Given the description of an element on the screen output the (x, y) to click on. 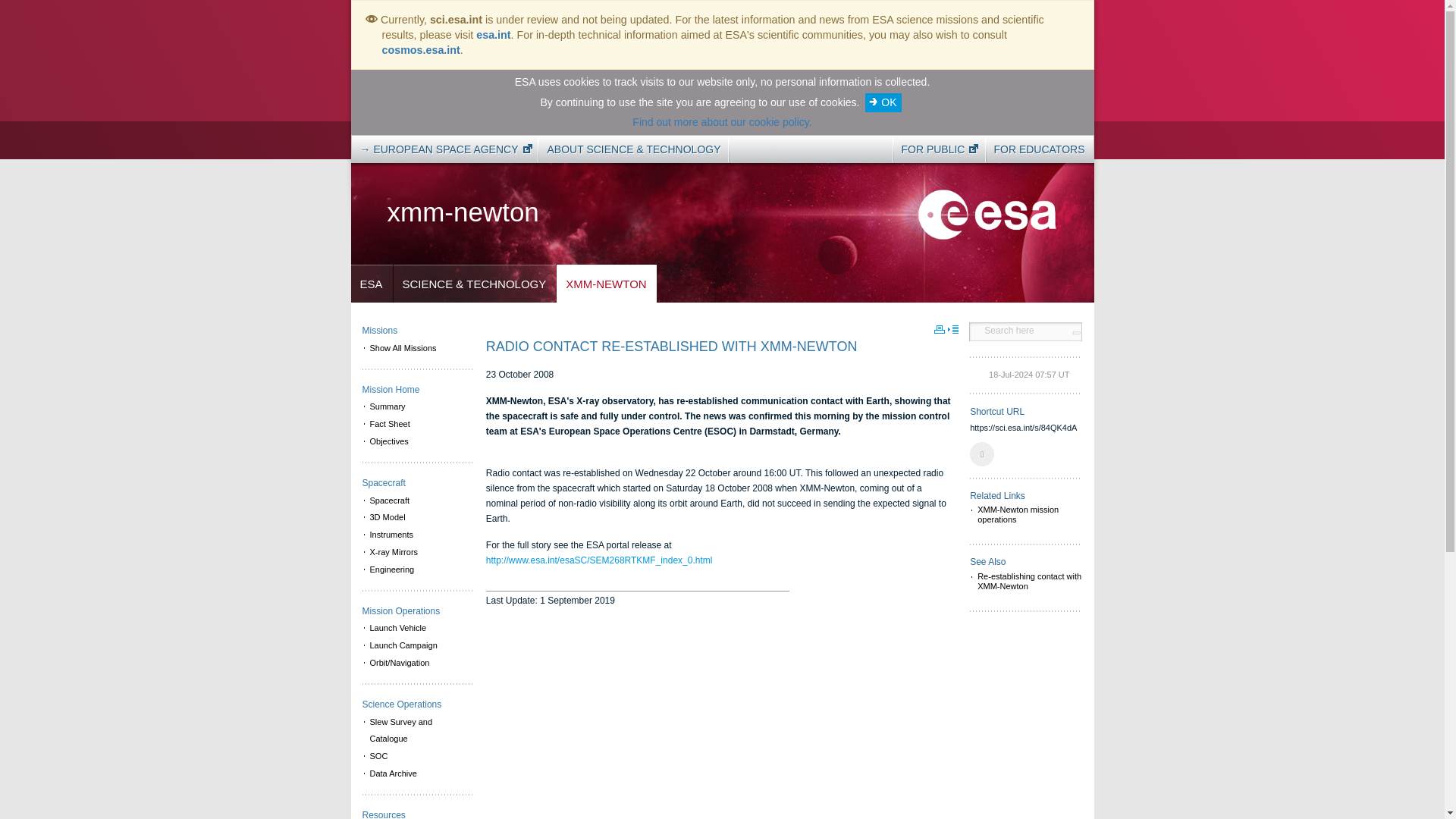
cosmos.esa.int (420, 50)
OK (882, 102)
Find out more about our cookie policy. (720, 121)
FOR EDUCATORS (1039, 148)
XMM-NEWTON (606, 283)
esa.int (493, 34)
FOR PUBLIC (935, 148)
ESA (370, 283)
Show All Missions (416, 348)
